Given the description of an element on the screen output the (x, y) to click on. 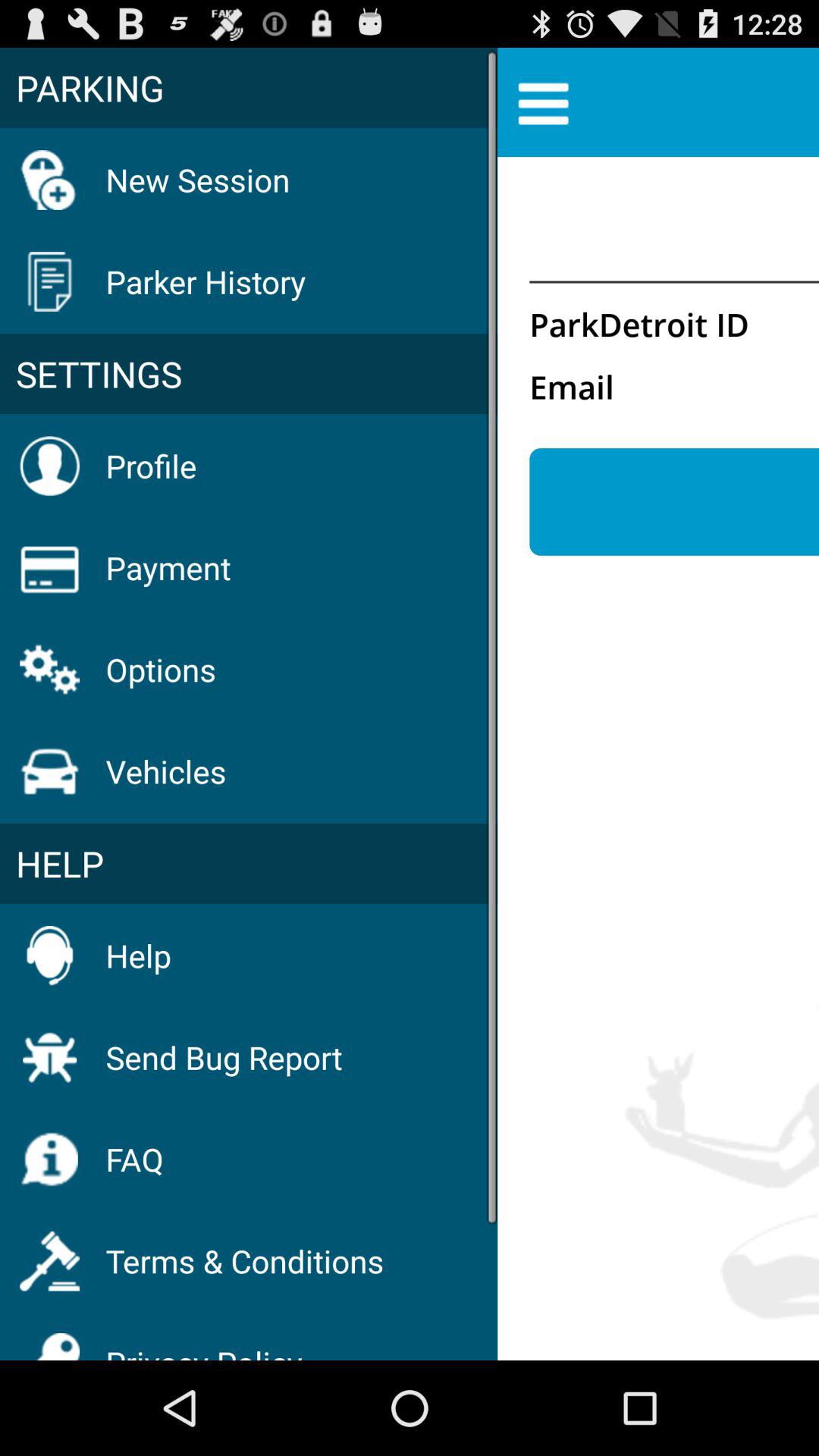
scroll until the update item (674, 501)
